Given the description of an element on the screen output the (x, y) to click on. 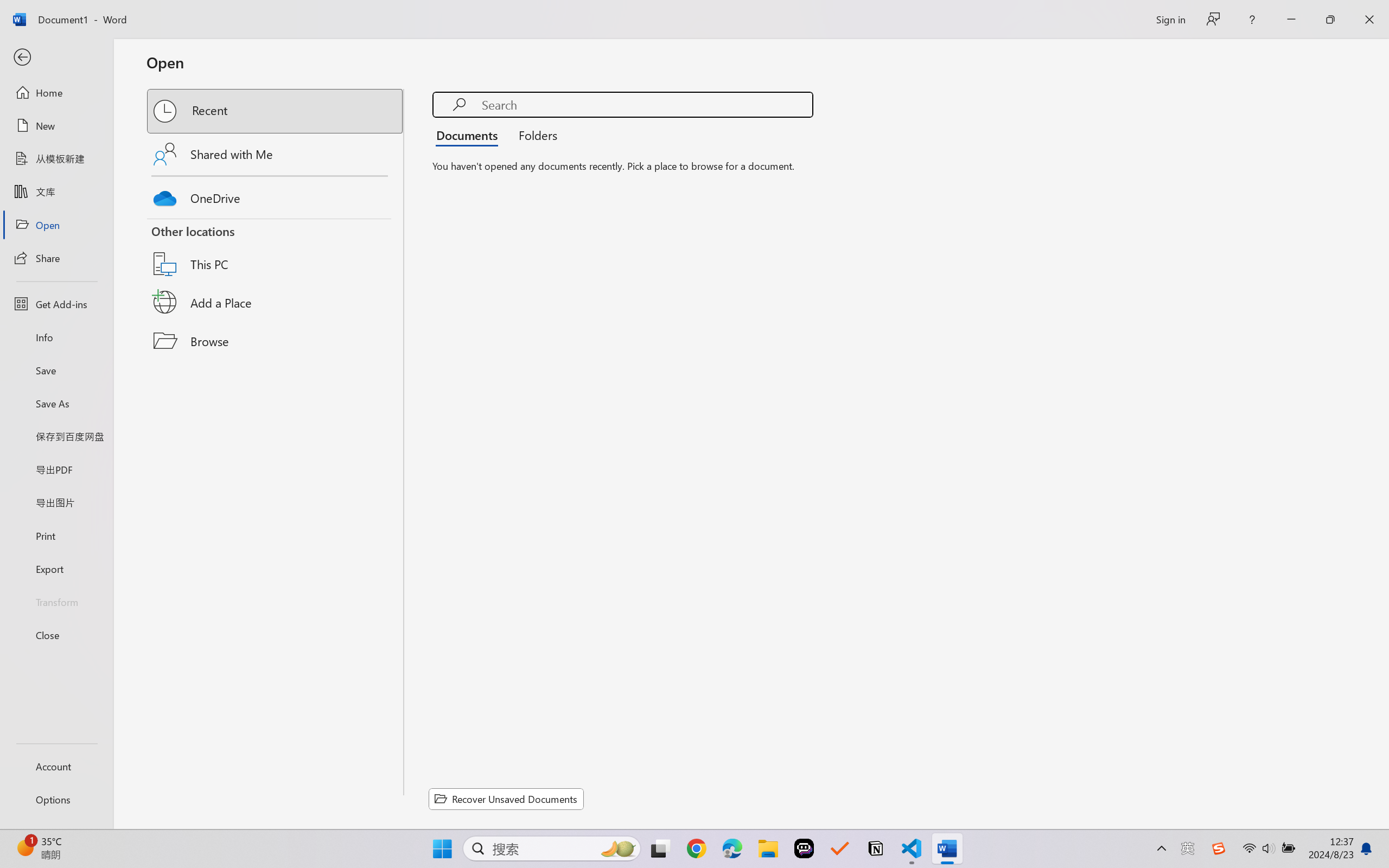
Account (56, 765)
Shared with Me (275, 153)
Documents (469, 134)
New (56, 125)
Transform (56, 601)
Recent (275, 110)
Export (56, 568)
